Given the description of an element on the screen output the (x, y) to click on. 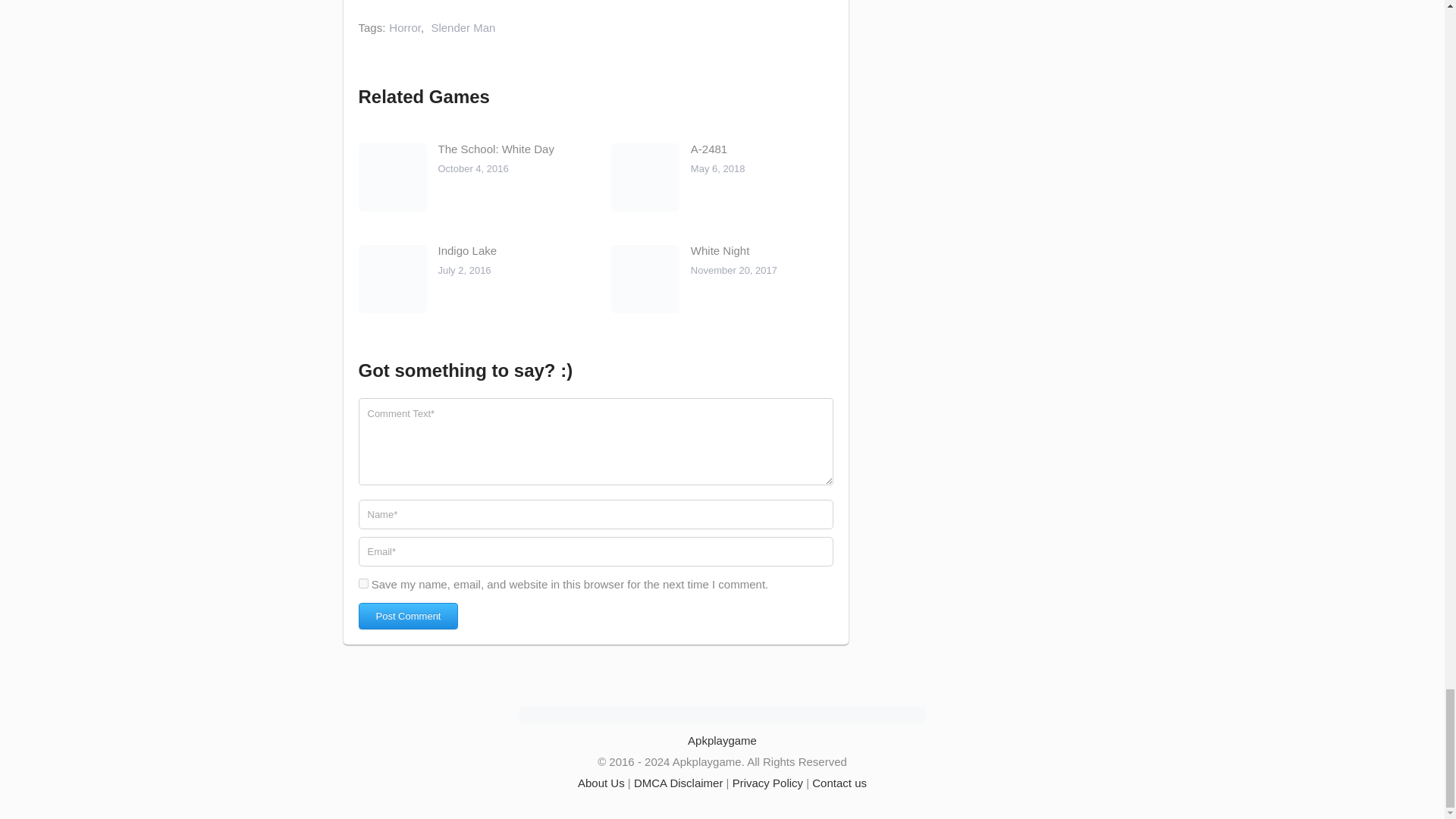
Post Comment (408, 615)
A-2481 (708, 148)
White Night (719, 250)
Horror (404, 27)
Post Comment (408, 615)
Slender Man (462, 27)
Indigo Lake (467, 250)
yes (363, 583)
The School: White Day (496, 148)
